Given the description of an element on the screen output the (x, y) to click on. 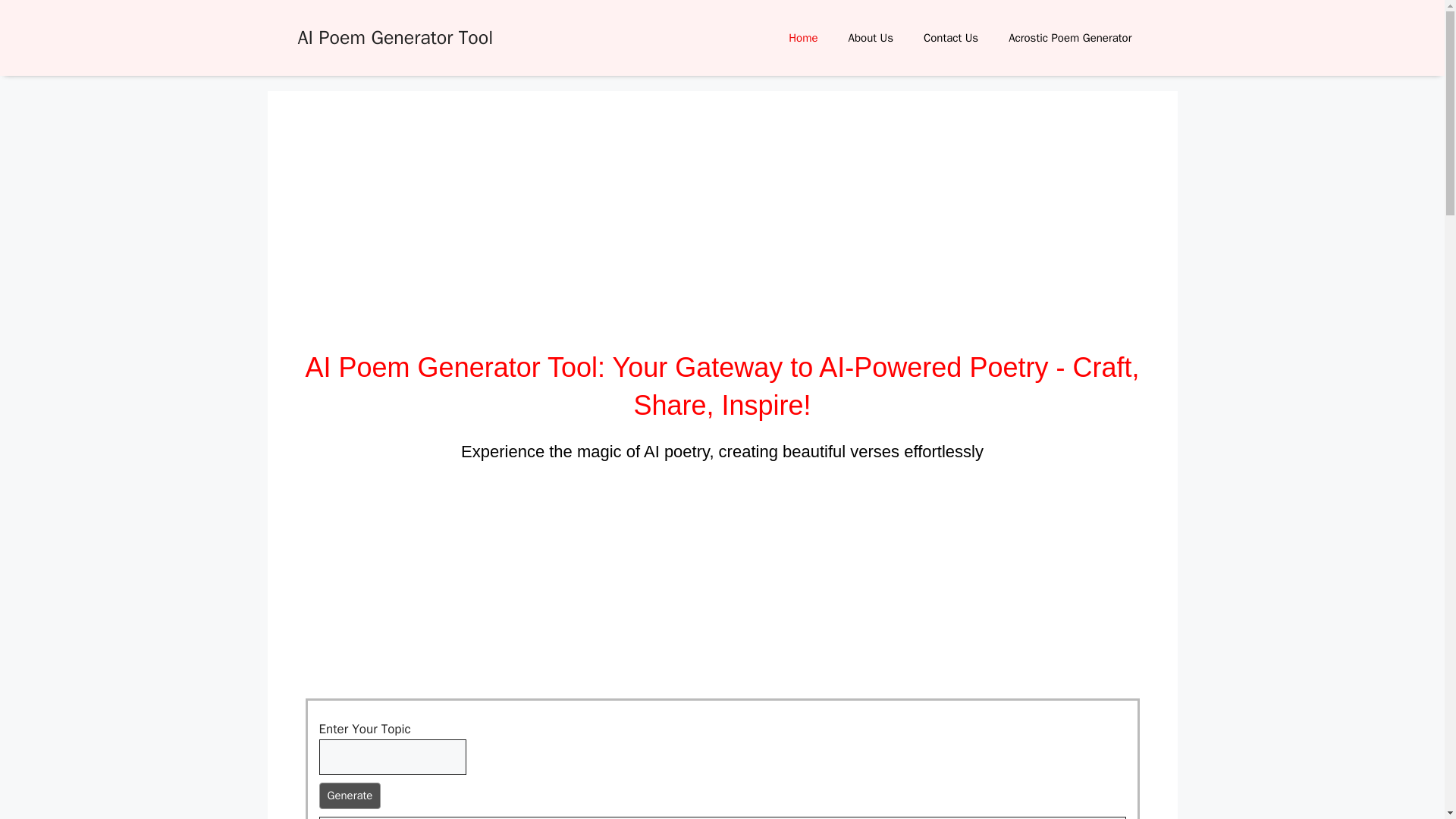
Acrostic Poem Generator (1069, 37)
Contact Us (950, 37)
AI Poem Generator Tool (395, 37)
Home (802, 37)
Generate (349, 795)
About Us (870, 37)
